Given the description of an element on the screen output the (x, y) to click on. 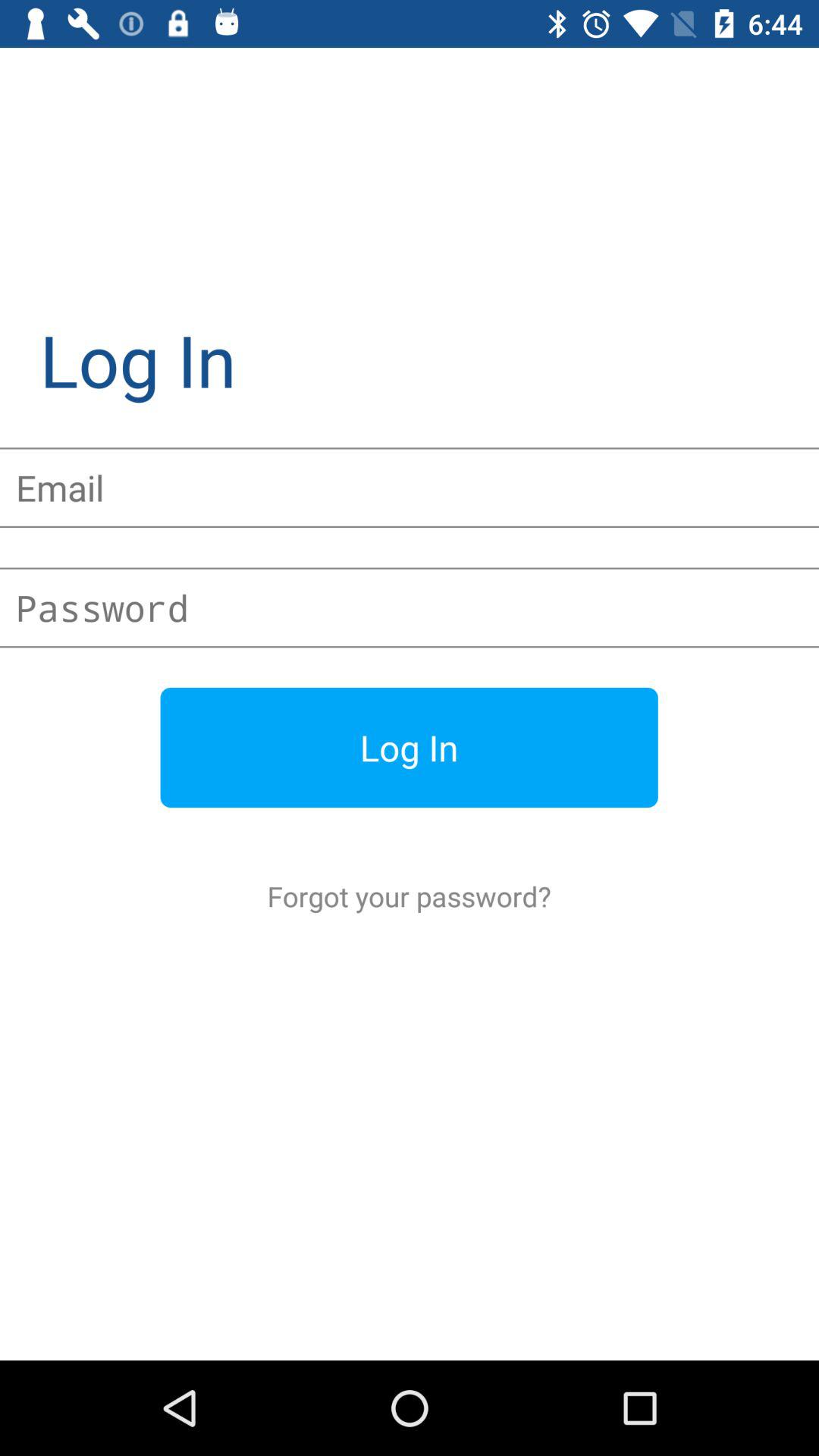
flip until the forgot your password? item (409, 896)
